Given the description of an element on the screen output the (x, y) to click on. 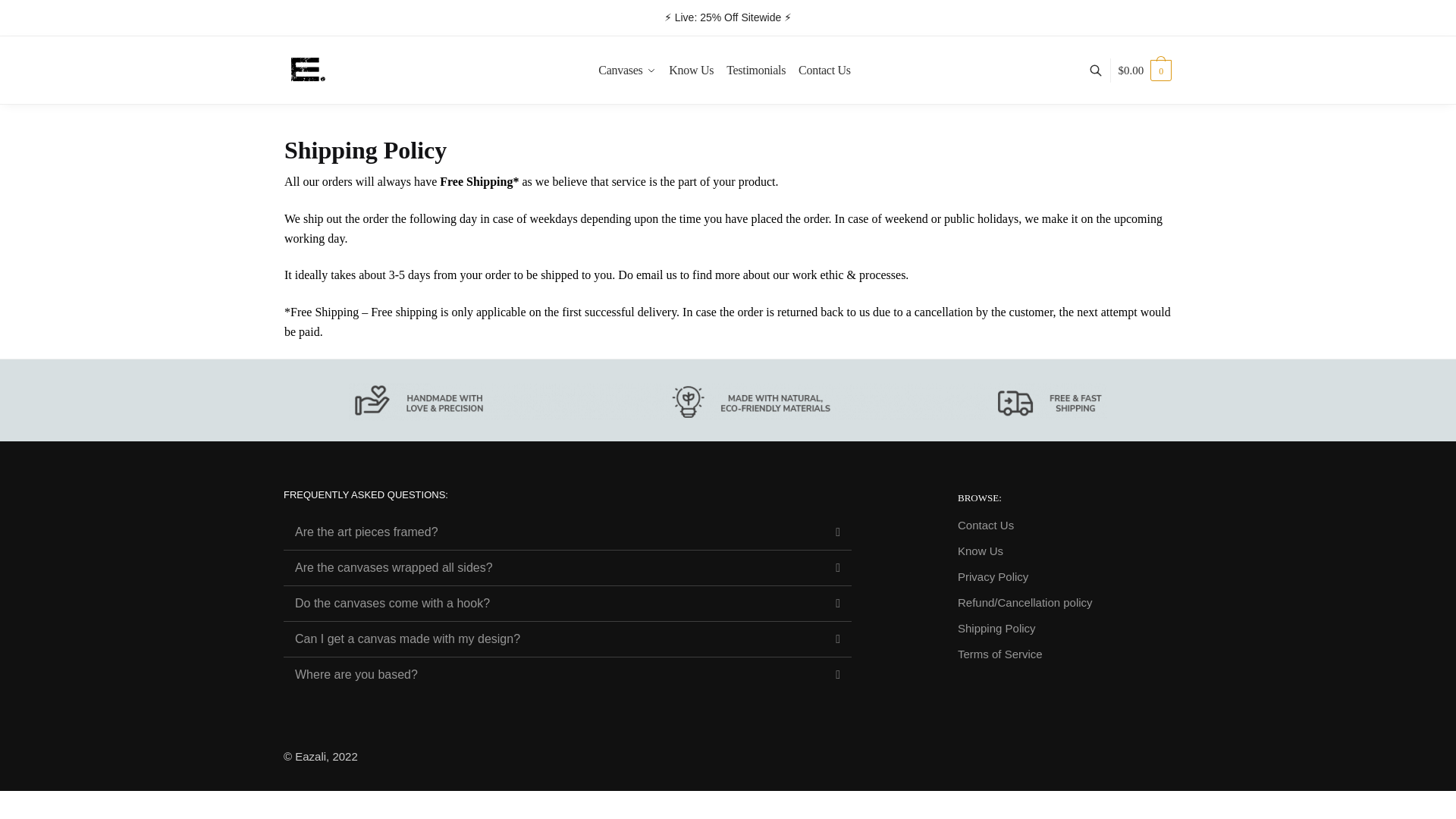
Where are you based? (356, 674)
Do the canvases come with a hook? (392, 603)
Are the canvases wrapped all sides? (394, 567)
Testimonials (756, 70)
View your shopping cart (1145, 70)
Are the art pieces framed? (366, 531)
Can I get a canvas made with my design? (407, 638)
Privacy Policy (992, 577)
Contact Us (985, 525)
Contact Us (824, 70)
